Given the description of an element on the screen output the (x, y) to click on. 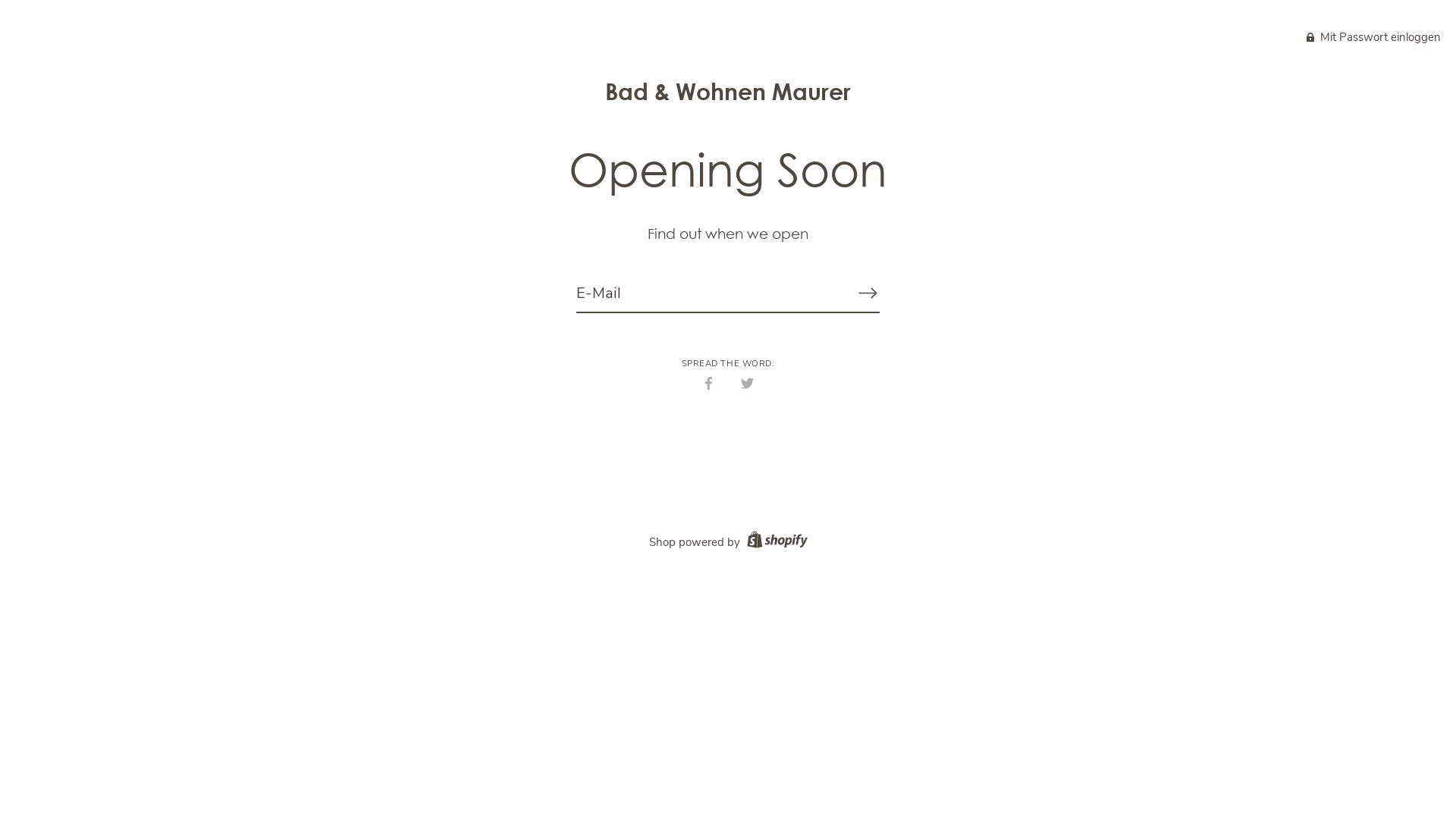
Teilen Element type: text (708, 381)
Lock icon Mit Passwort einloggen Element type: text (1373, 36)
Shopify logo Element type: text (775, 541)
Bad & Wohnen Maurer Element type: text (727, 91)
Twittern Element type: text (746, 381)
